Given the description of an element on the screen output the (x, y) to click on. 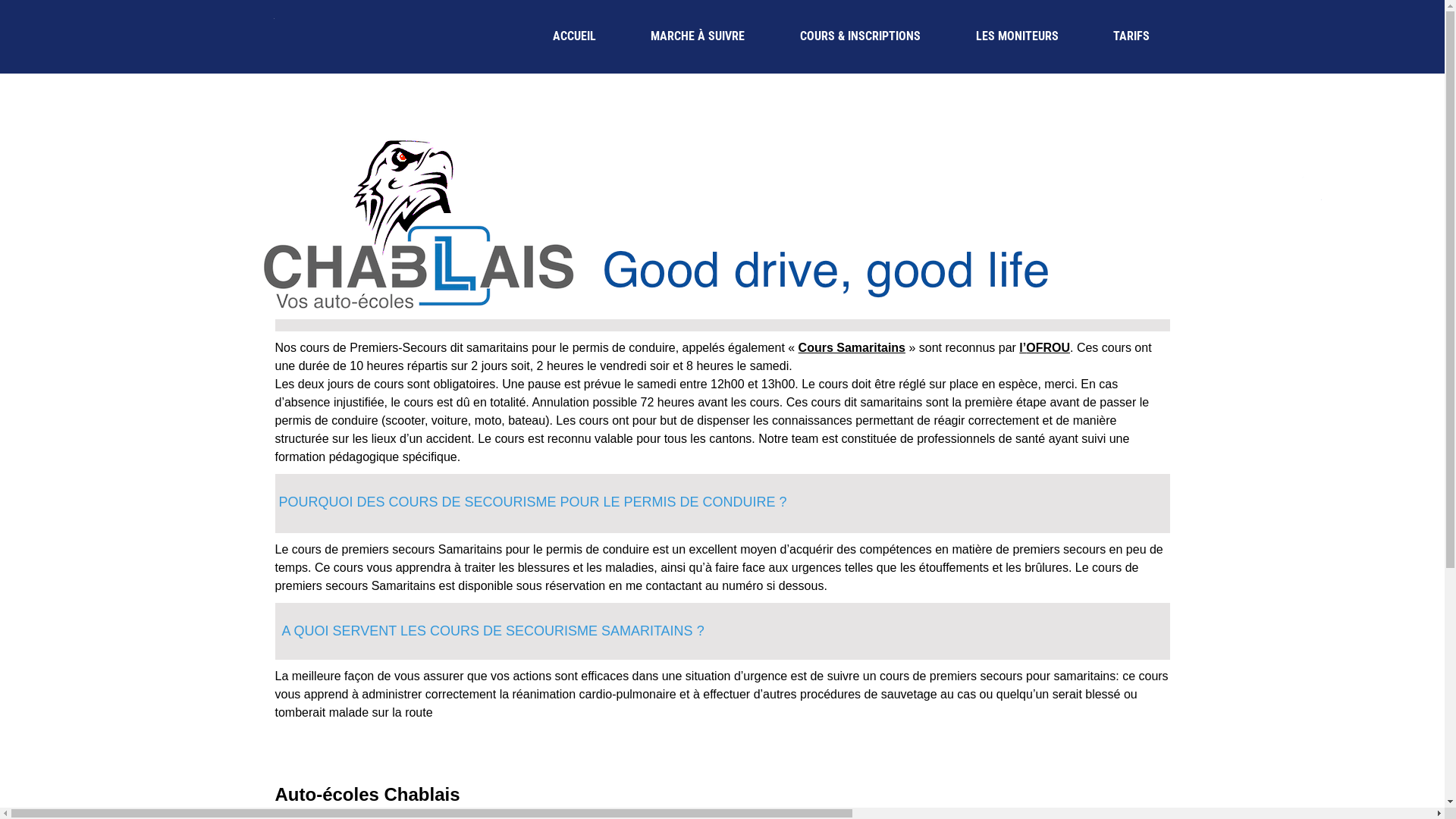
ACCUEIL Element type: text (573, 36)
COURS & INSCRIPTIONS Element type: text (860, 36)
LES MONITEURS Element type: text (1016, 36)
+ INFOS Element type: text (1110, 218)
TARIFS Element type: text (1131, 36)
+ INFOS Element type: text (1110, 179)
OFROU Element type: text (1048, 347)
S'INSCRIRE Element type: text (1109, 90)
Cours Samaritains Element type: text (851, 347)
